Given the description of an element on the screen output the (x, y) to click on. 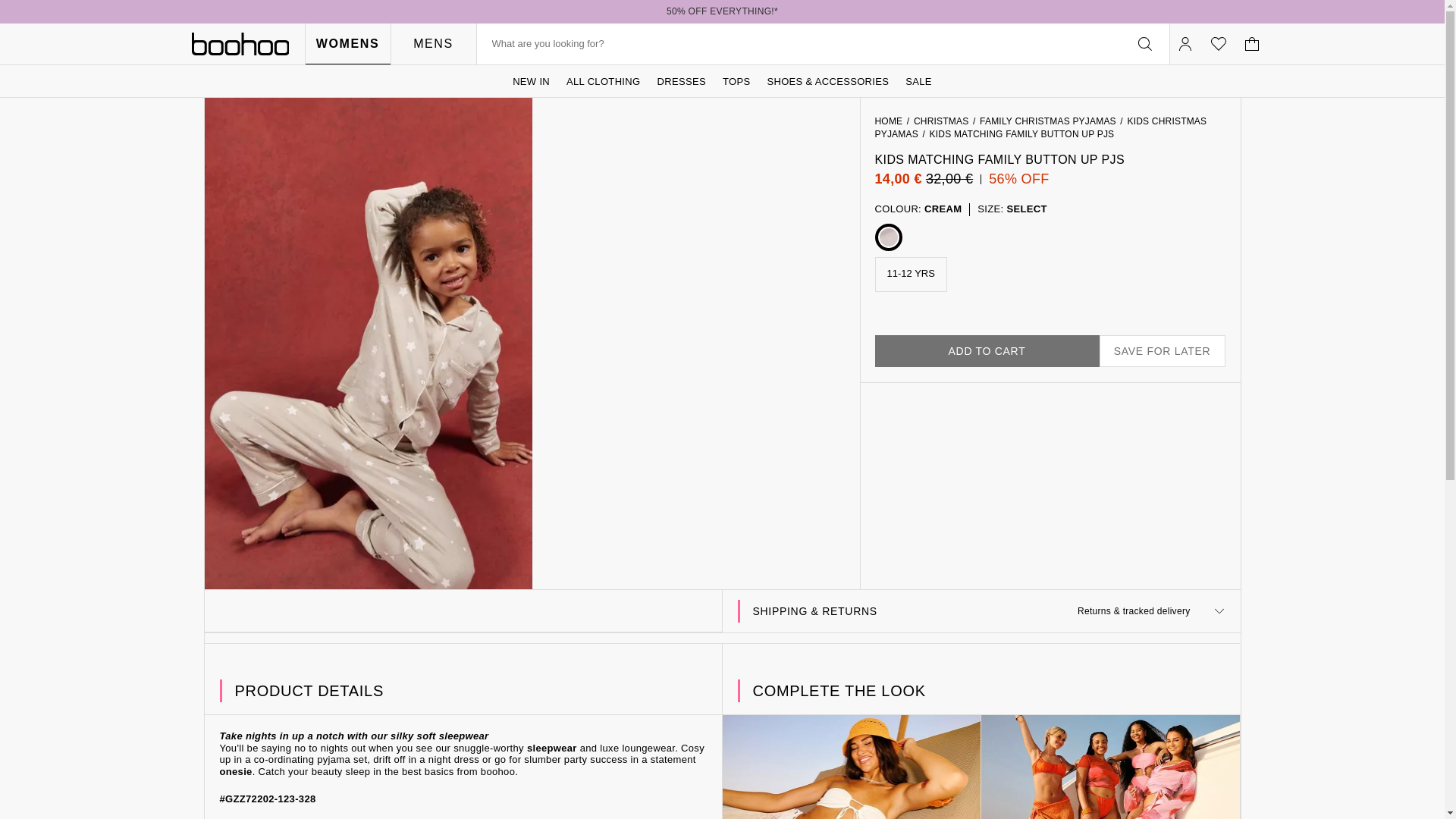
Boohoo (239, 43)
ALL CLOTHING (603, 81)
MENS (433, 43)
WOMENS (347, 43)
Search (786, 43)
NEW IN (531, 81)
